Given the description of an element on the screen output the (x, y) to click on. 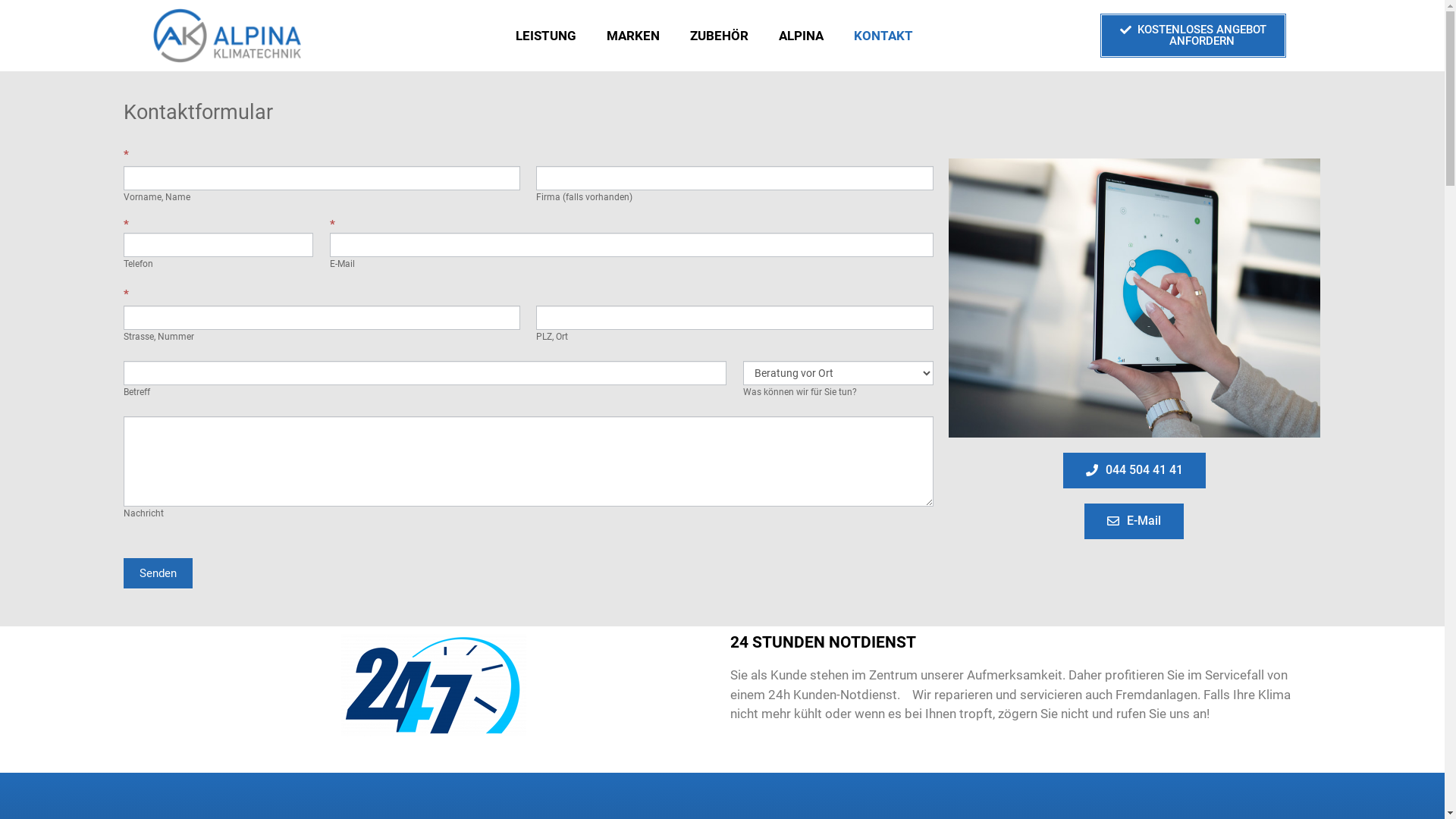
MARKEN Element type: text (632, 35)
ALPINA Element type: text (800, 35)
044 504 41 41 Element type: text (1134, 470)
E-Mail Element type: text (1133, 521)
KONTAKT Element type: text (883, 35)
LEISTUNG Element type: text (545, 35)
KOSTENLOSES ANGEBOT
ANFORDERN Element type: text (1192, 35)
Senden Element type: text (156, 573)
